Given the description of an element on the screen output the (x, y) to click on. 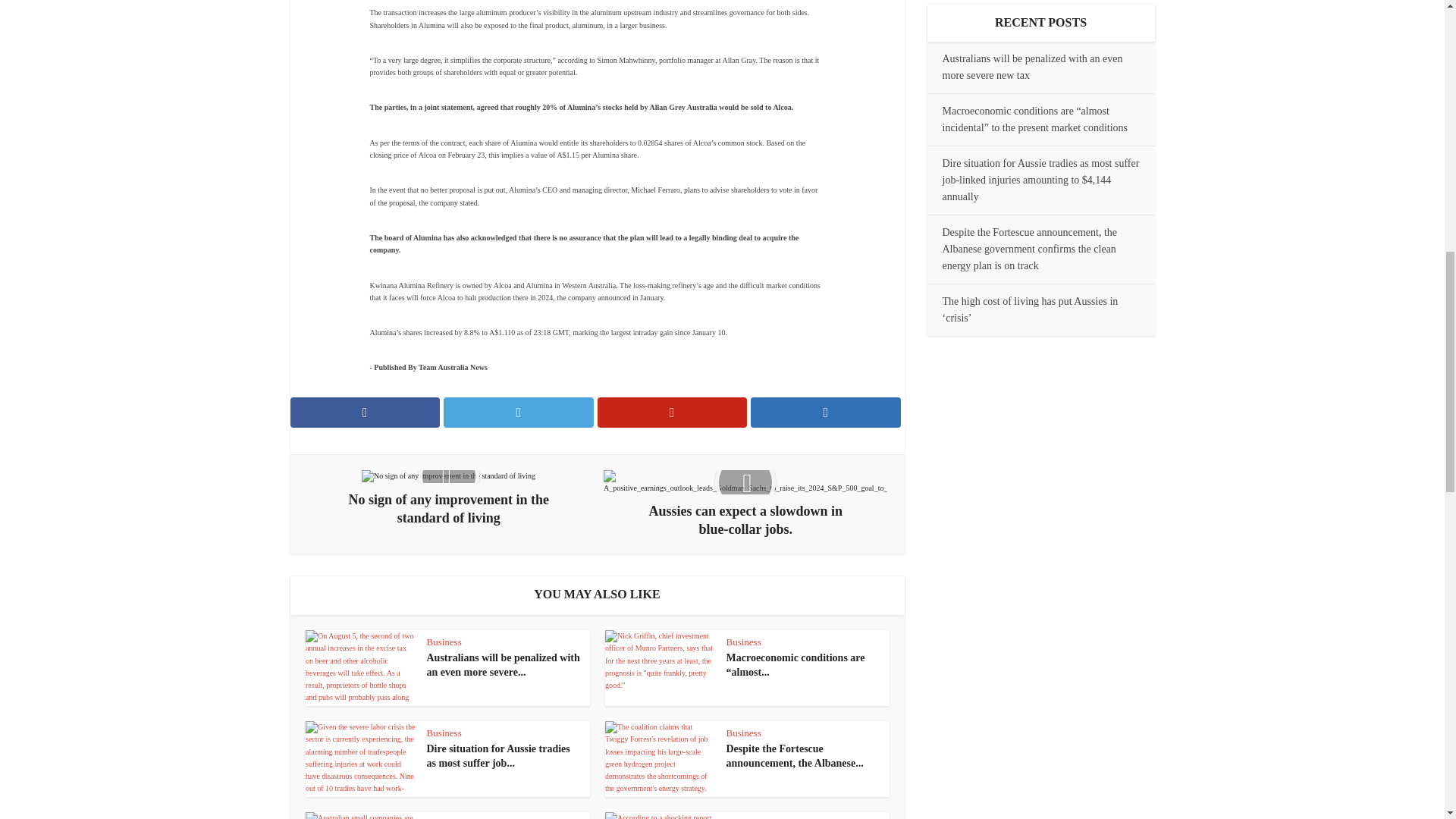
Aussies can expect a slowdown in blue-collar jobs. (745, 504)
Business (443, 641)
No sign of any improvement in the standard of living (449, 498)
Australians will be penalized with an even more severe... (502, 664)
